Given the description of an element on the screen output the (x, y) to click on. 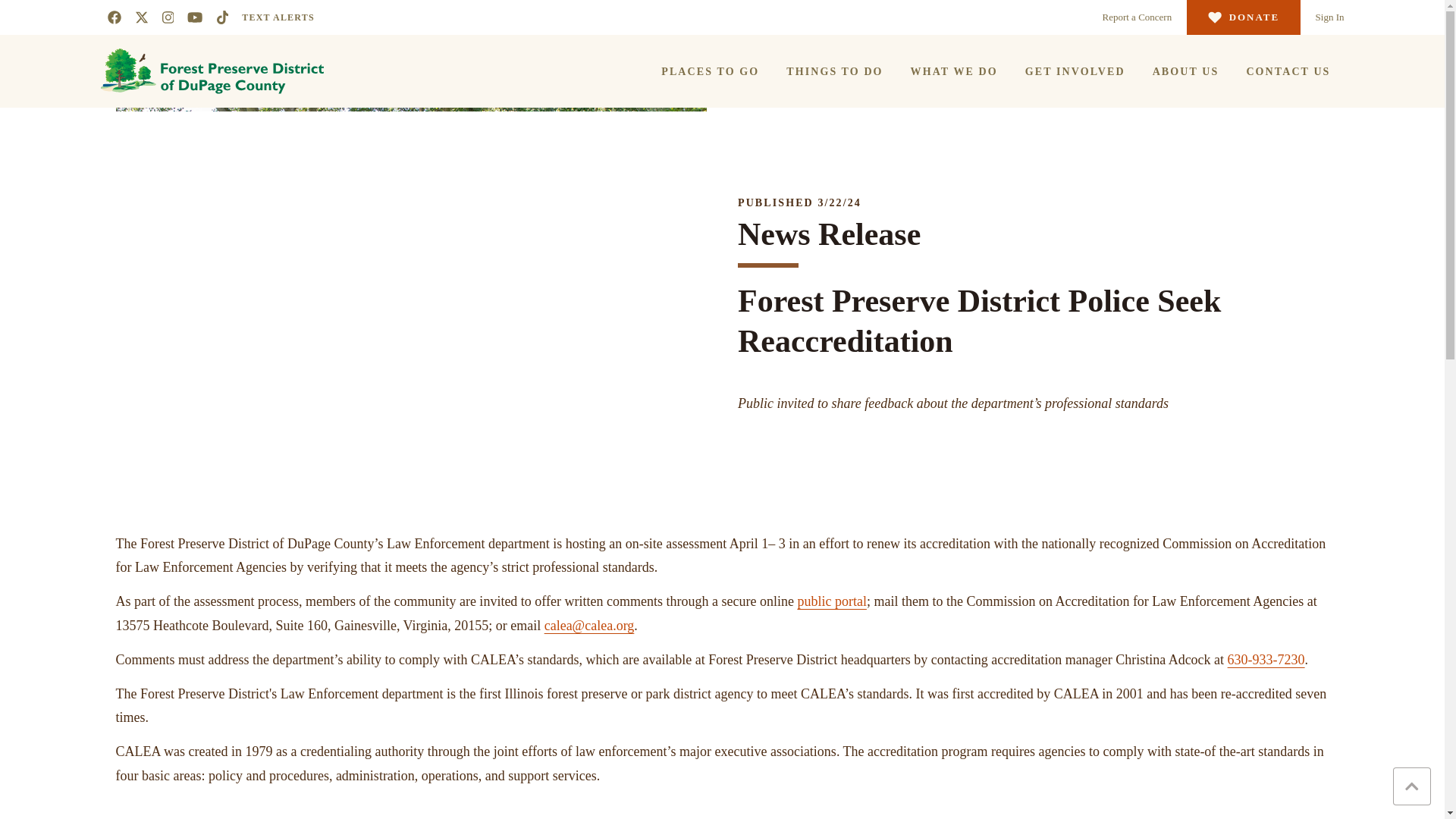
DONATE (1243, 17)
THINGS TO DO (834, 71)
Facebook (113, 17)
PLACES TO GO (710, 71)
TEXT ALERTS (277, 17)
Report a Concern (1137, 17)
Back to Top (1412, 786)
Skip to navigation (13, 6)
YouTube (194, 17)
Twitter (141, 17)
